Given the description of an element on the screen output the (x, y) to click on. 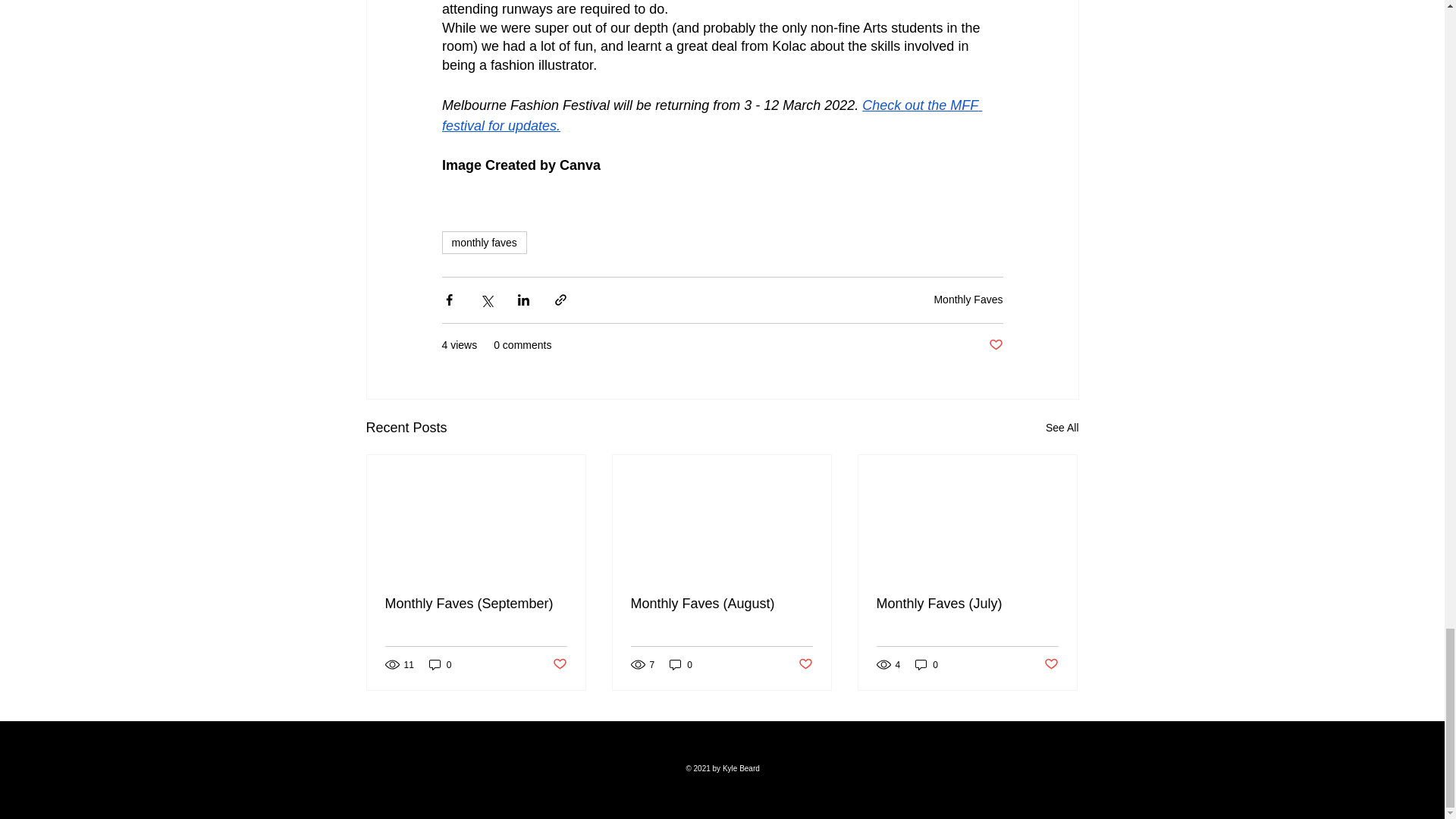
0 (926, 664)
Post not marked as liked (804, 664)
Check out the MFF festival for updates. (711, 115)
Post not marked as liked (1050, 664)
0 (681, 664)
Monthly Faves (968, 299)
monthly faves (483, 241)
0 (440, 664)
See All (1061, 427)
Post not marked as liked (558, 664)
Post not marked as liked (995, 344)
